Given the description of an element on the screen output the (x, y) to click on. 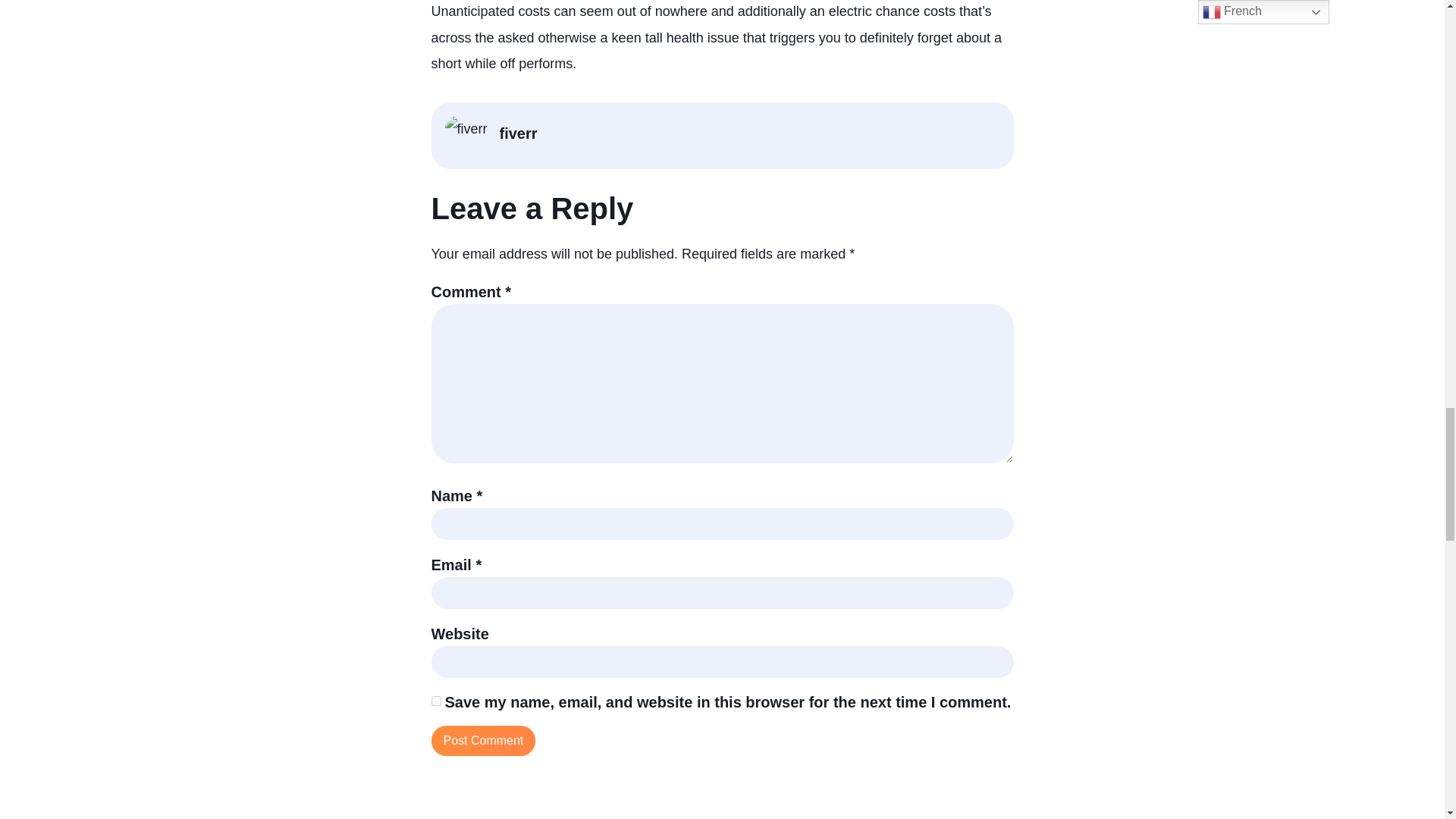
yes (435, 700)
Post Comment (482, 740)
